Given the description of an element on the screen output the (x, y) to click on. 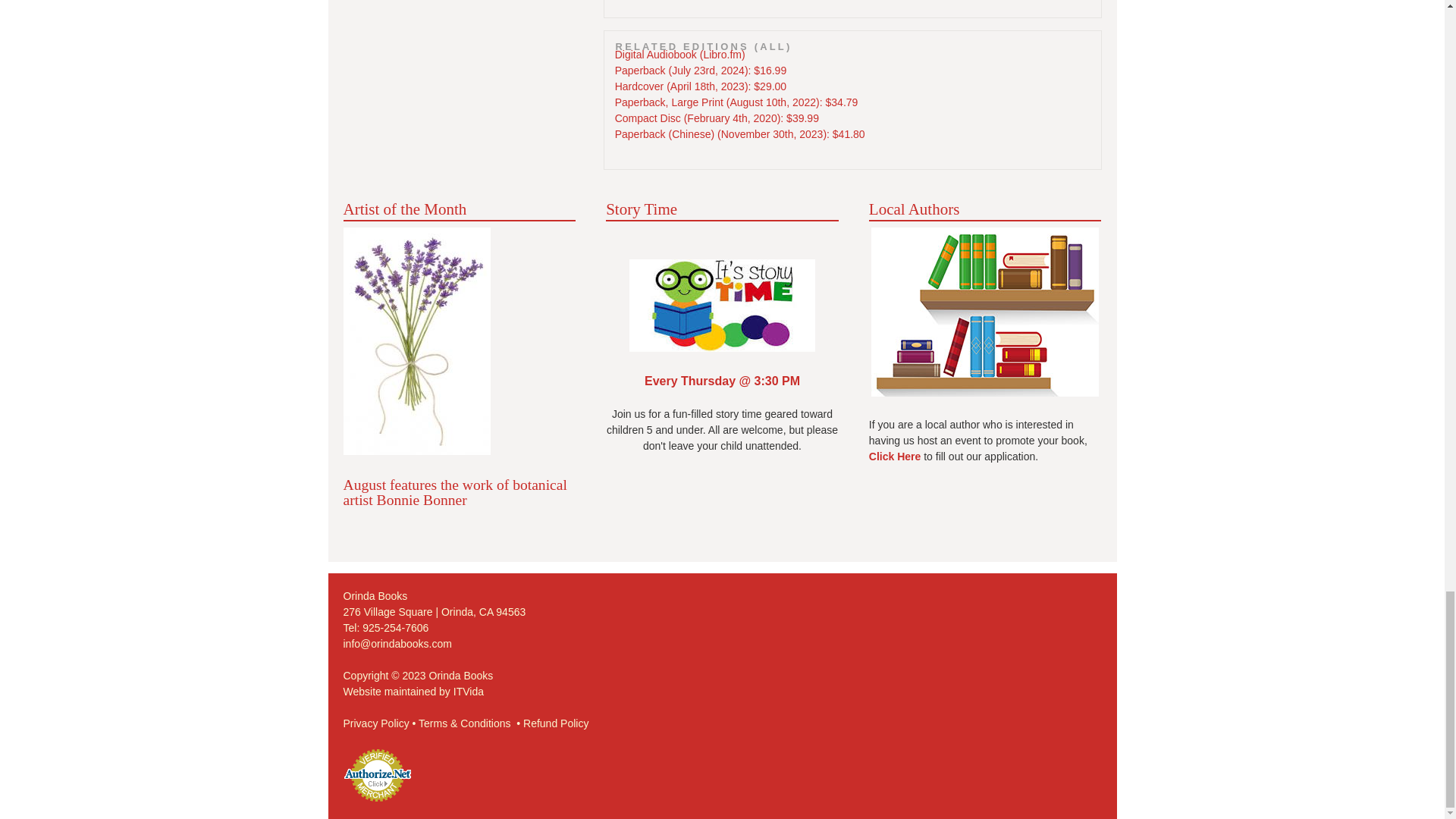
Click Here (894, 456)
ITVida (467, 691)
August features the work of botanical artist Bonnie Bonner (454, 491)
Privacy Policy (375, 723)
